Given the description of an element on the screen output the (x, y) to click on. 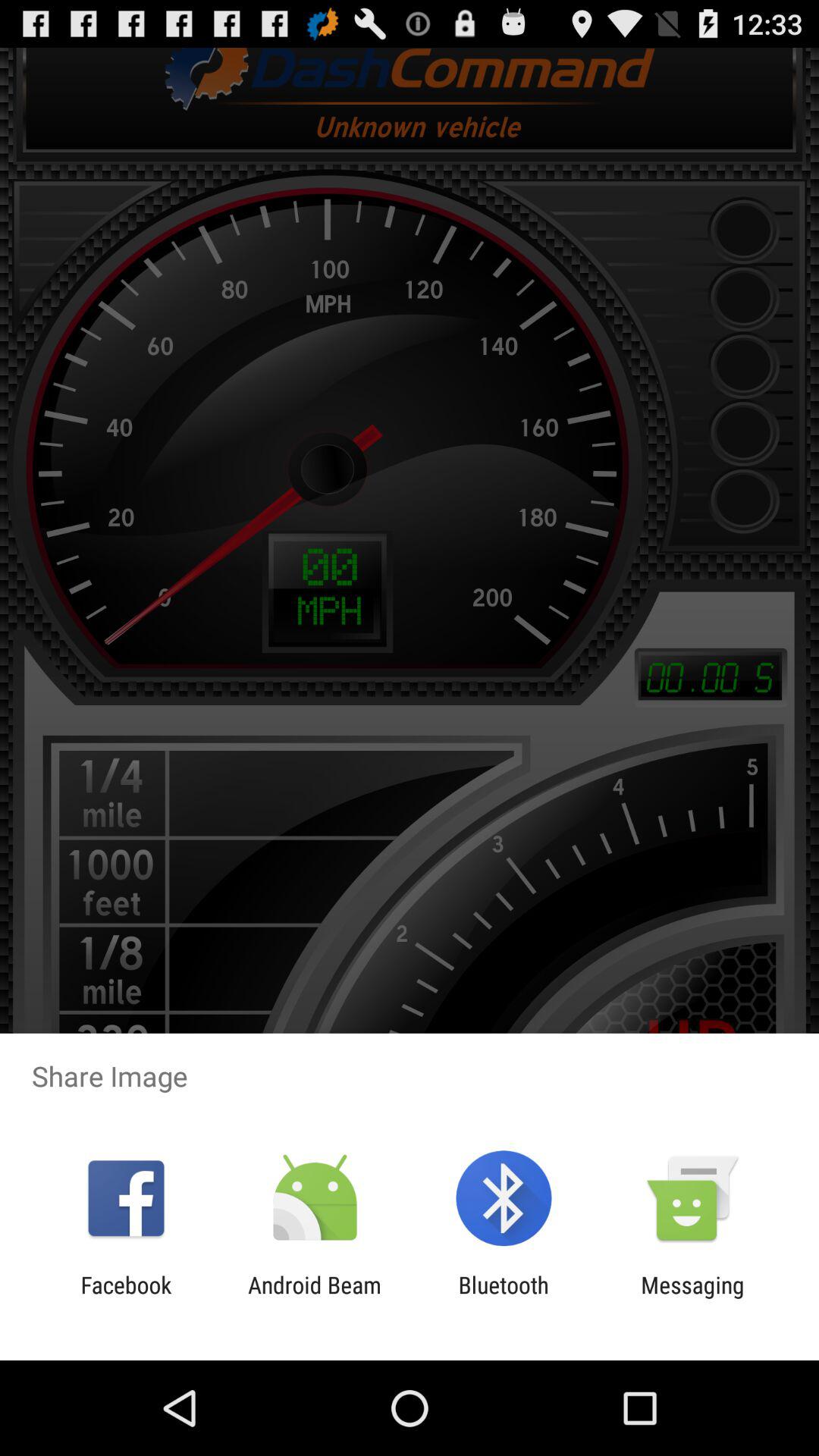
tap the icon to the right of bluetooth (692, 1298)
